Given the description of an element on the screen output the (x, y) to click on. 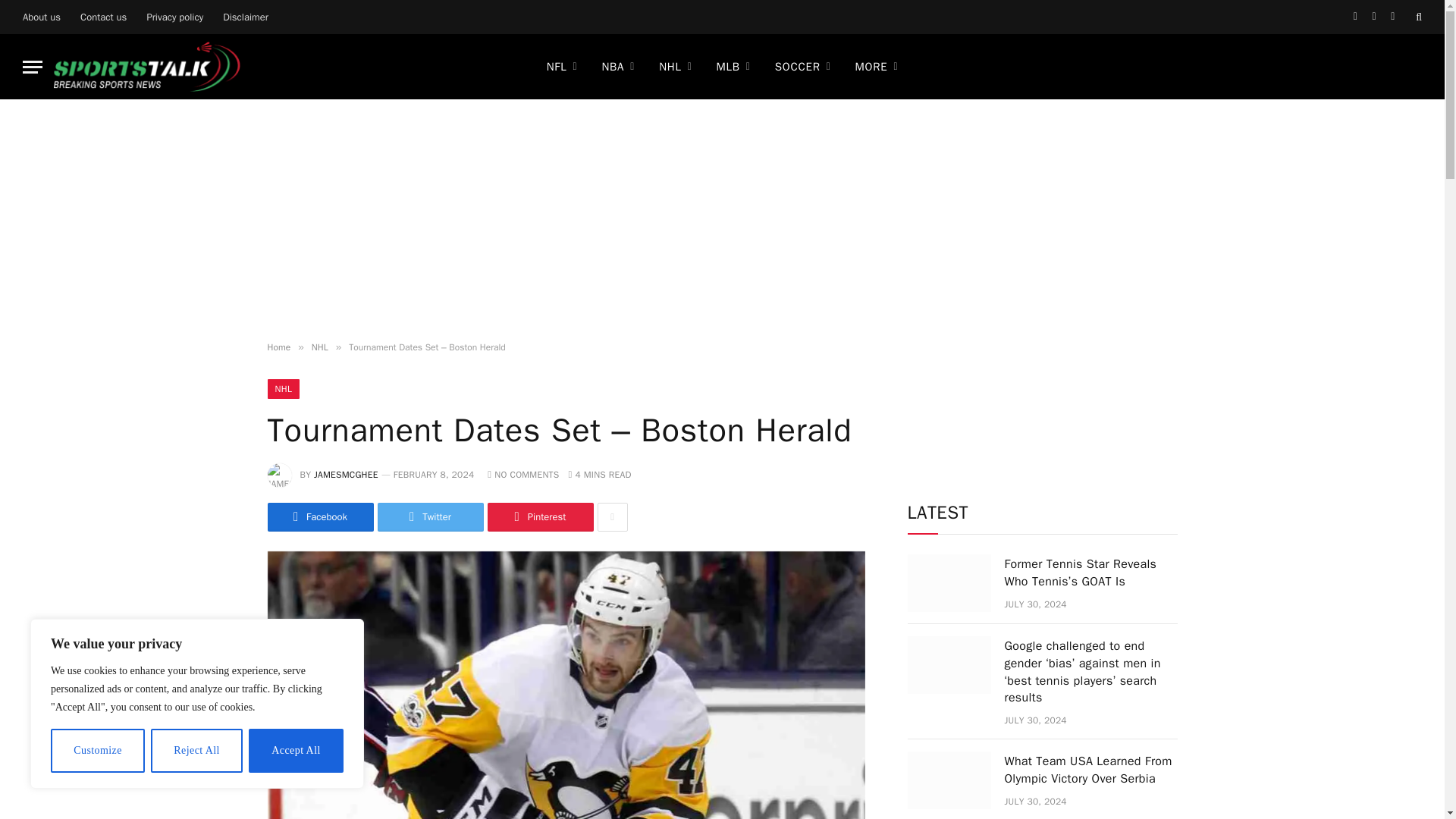
Disclaimer (245, 17)
Accept All (295, 750)
Reject All (197, 750)
About us (41, 17)
Contact us (102, 17)
Customize (97, 750)
Sportstalk (146, 66)
Privacy policy (174, 17)
